Given the description of an element on the screen output the (x, y) to click on. 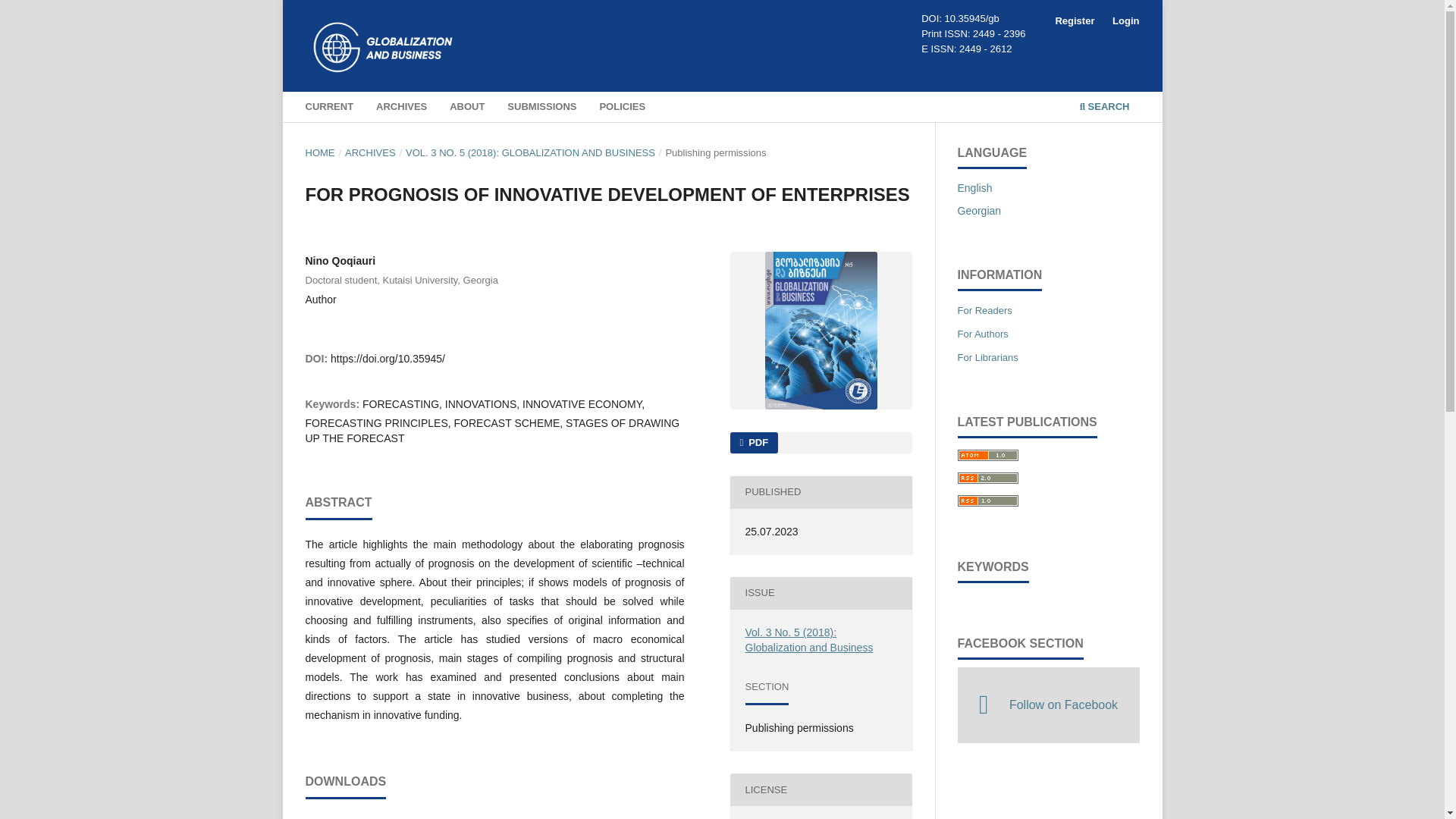
Login (1126, 20)
ARCHIVES (401, 108)
ABOUT (467, 108)
HOME (319, 152)
Register (1074, 20)
ARCHIVES (370, 152)
CURRENT (328, 108)
SUBMISSIONS (541, 108)
POLICIES (622, 108)
SEARCH (1104, 108)
